Given the description of an element on the screen output the (x, y) to click on. 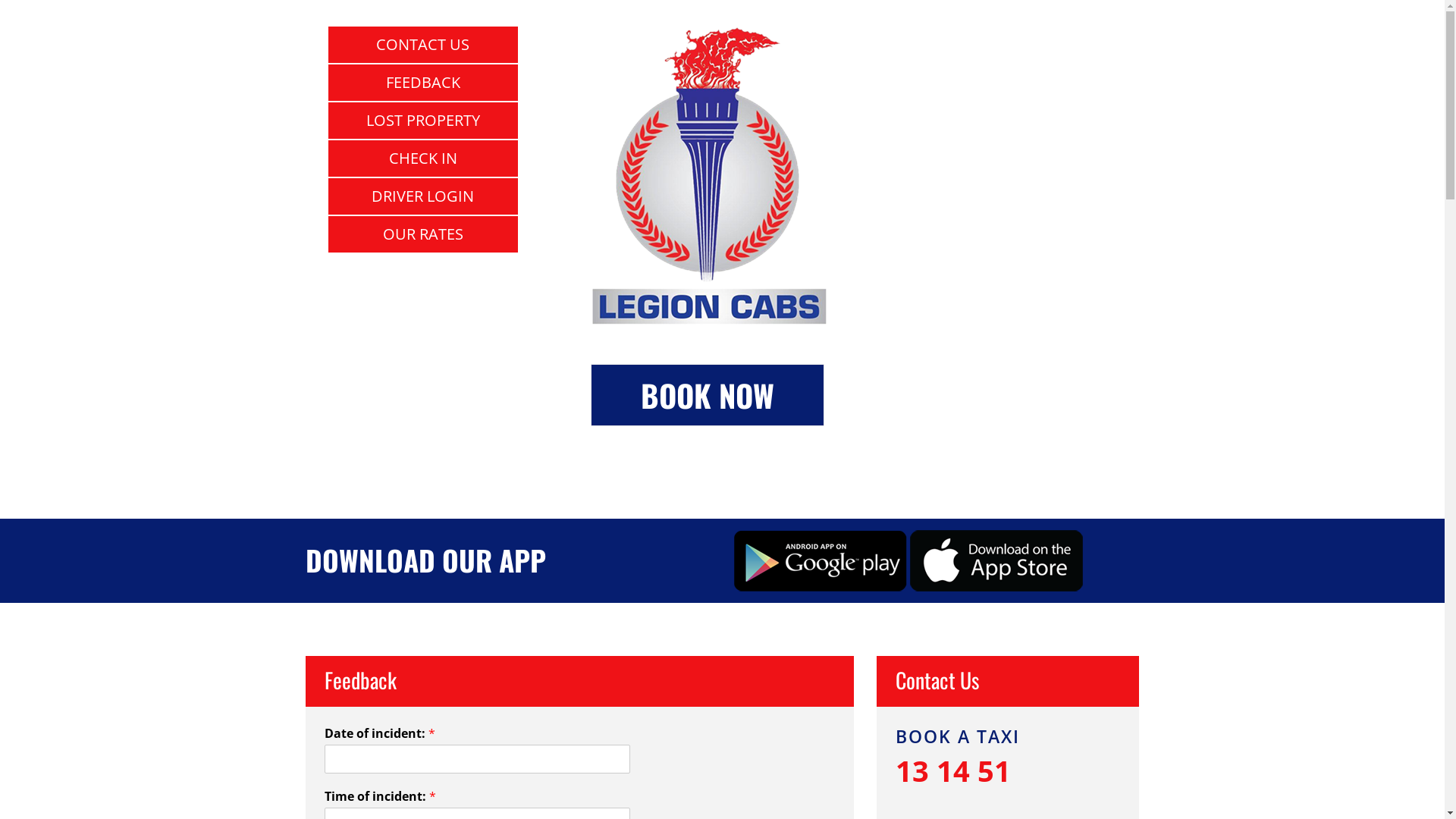
LOST PROPERTY Element type: text (422, 120)
CHECK IN Element type: text (422, 158)
FEEDBACK Element type: text (422, 82)
OUR RATES Element type: text (422, 234)
DRIVER LOGIN Element type: text (422, 196)
BOOK NOW Element type: text (707, 395)
Legion Cabs Element type: hover (709, 176)
CONTACT US Element type: text (422, 44)
